Given the description of an element on the screen output the (x, y) to click on. 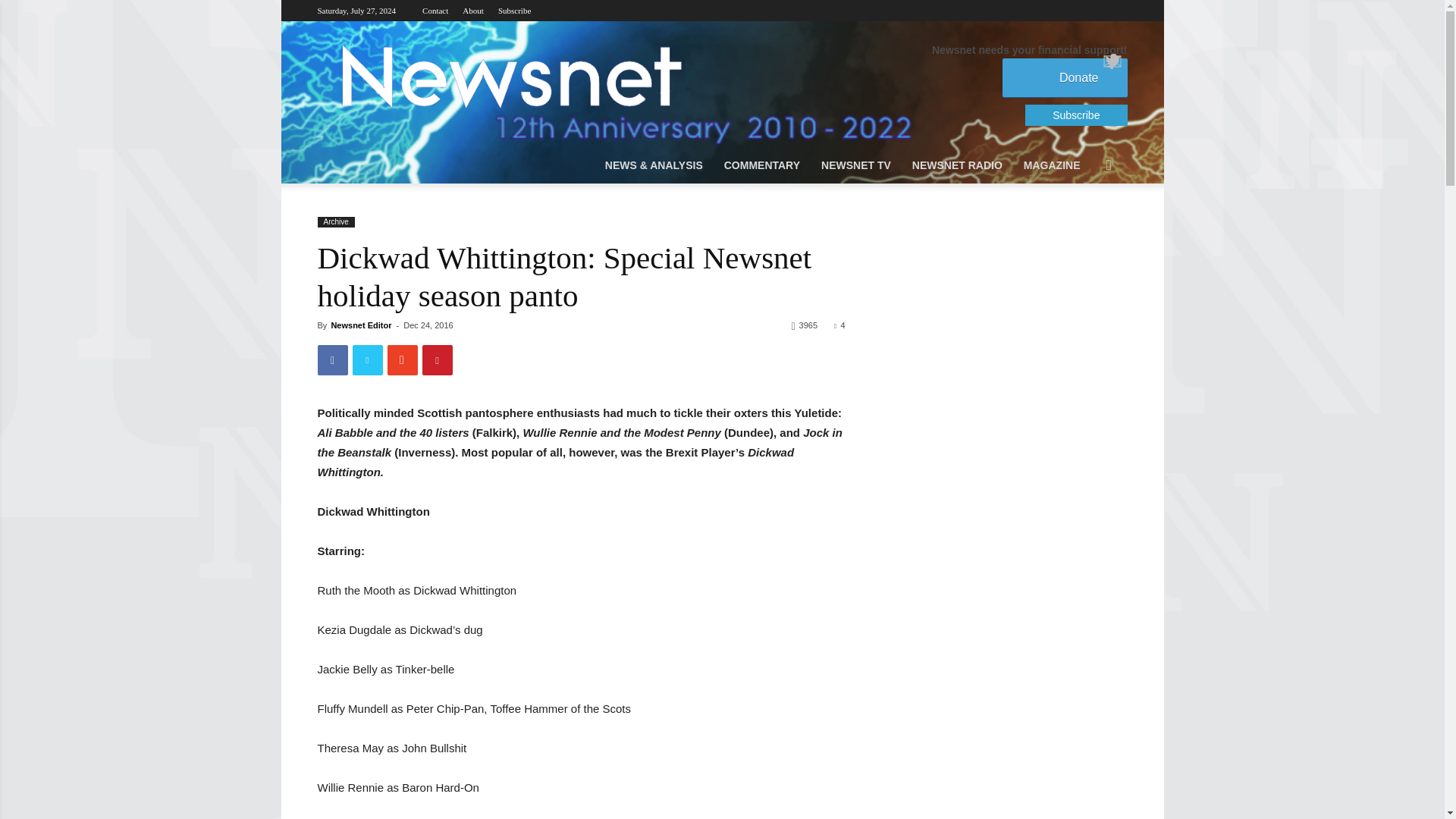
NEWSNET RADIO (957, 165)
NEWSNET TV (855, 165)
Search (1086, 225)
Contact (435, 10)
About (473, 10)
Archive (335, 222)
Newsnet Editor (360, 325)
NEWSNET.scot (509, 76)
4 (839, 325)
Donate (1064, 77)
MAGAZINE (1051, 165)
Subscribe (514, 10)
COMMENTARY (761, 165)
